Given the description of an element on the screen output the (x, y) to click on. 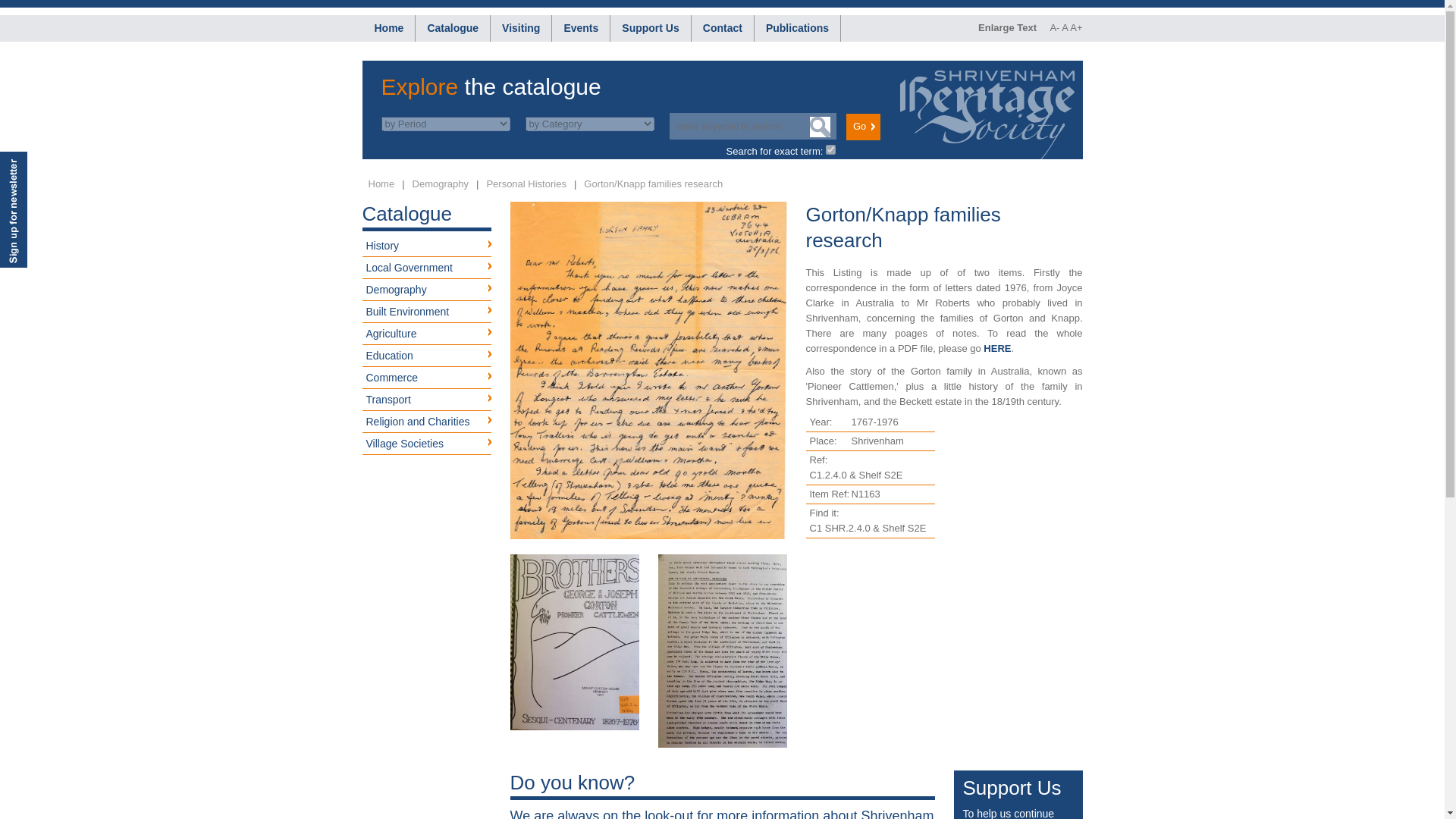
Village Societies (427, 444)
Events (580, 28)
Local Government (427, 268)
Personal Histories (526, 183)
Catalogue (451, 28)
Education (427, 355)
Agriculture (427, 333)
visiting (520, 28)
Commerce (427, 377)
Religion and Charities (427, 422)
support (650, 28)
Demography (427, 290)
History (427, 246)
enter keyword to search (751, 126)
Built Environment (427, 311)
